Given the description of an element on the screen output the (x, y) to click on. 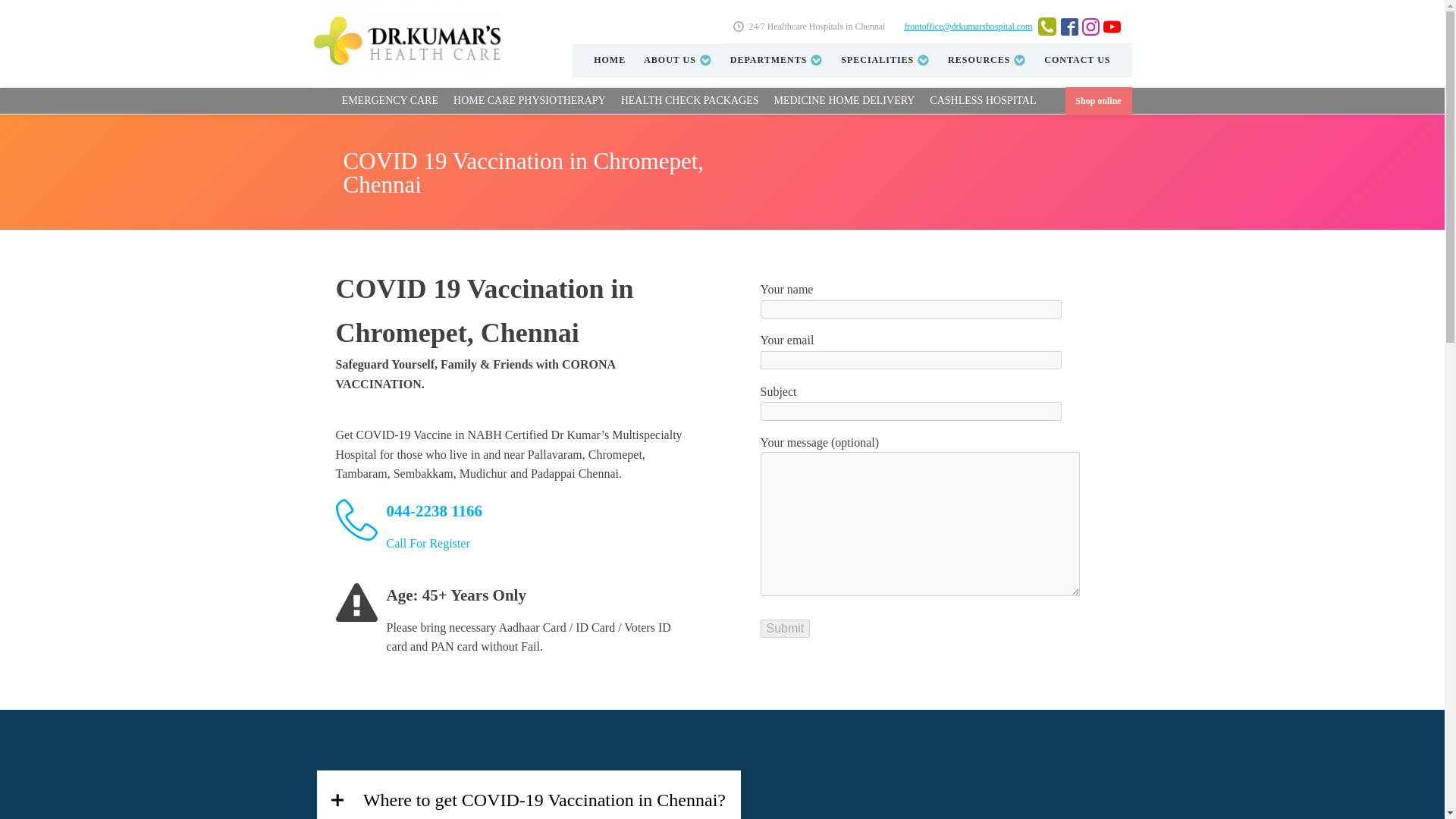
HEALTH CHECK PACKAGES (689, 100)
Submit (784, 628)
CONTACT US (1077, 60)
EMERGENCY CARE (390, 100)
HOME CARE PHYSIOTHERAPY (528, 100)
HOME (609, 60)
DEPARTMENTS (776, 60)
ABOUT US (677, 60)
SPECIALITIES (885, 60)
RESOURCES (987, 60)
